Given the description of an element on the screen output the (x, y) to click on. 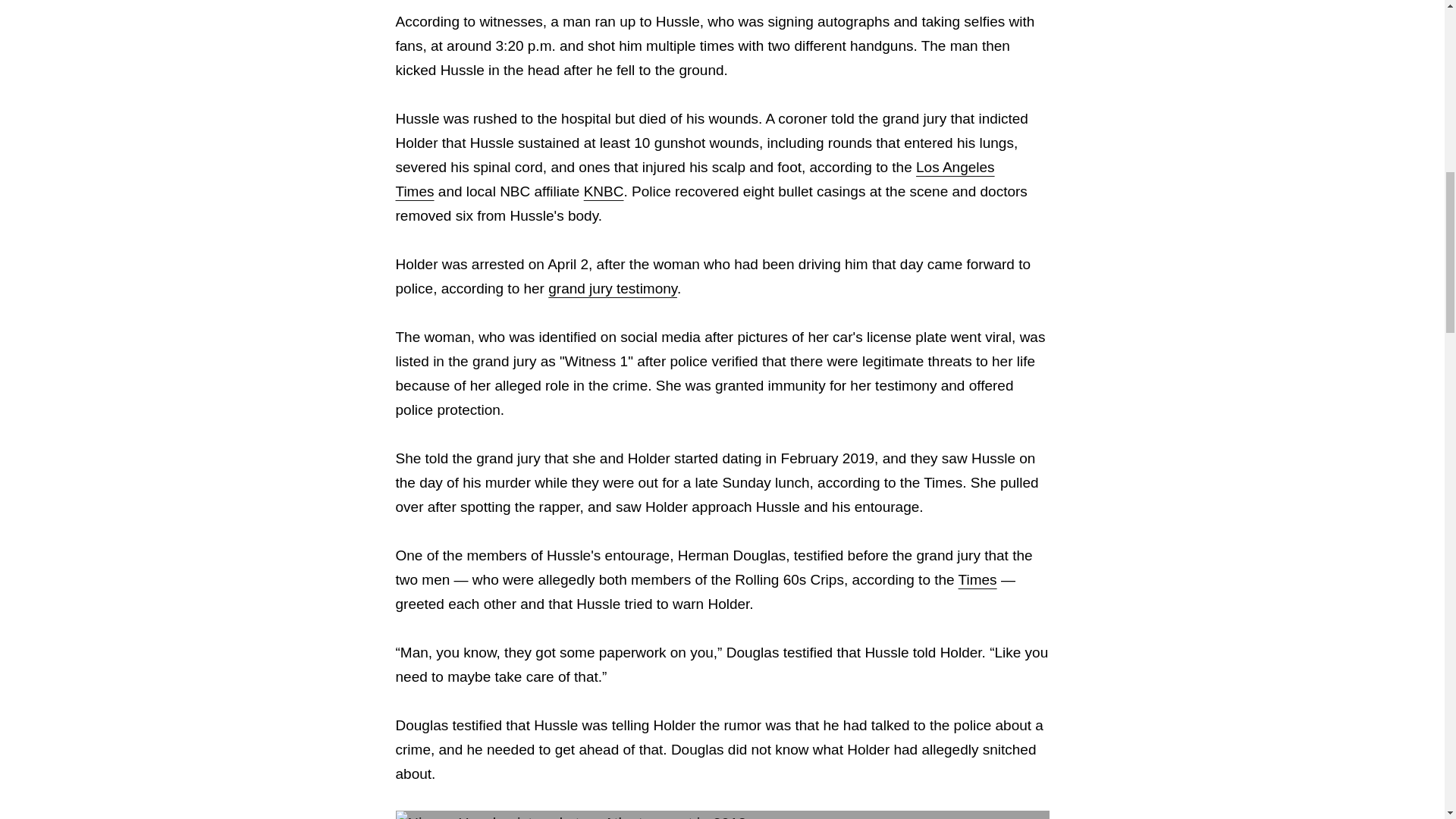
KNBC (603, 191)
Los Angeles Times (695, 178)
grand jury testimony (612, 288)
Times (977, 579)
